Given the description of an element on the screen output the (x, y) to click on. 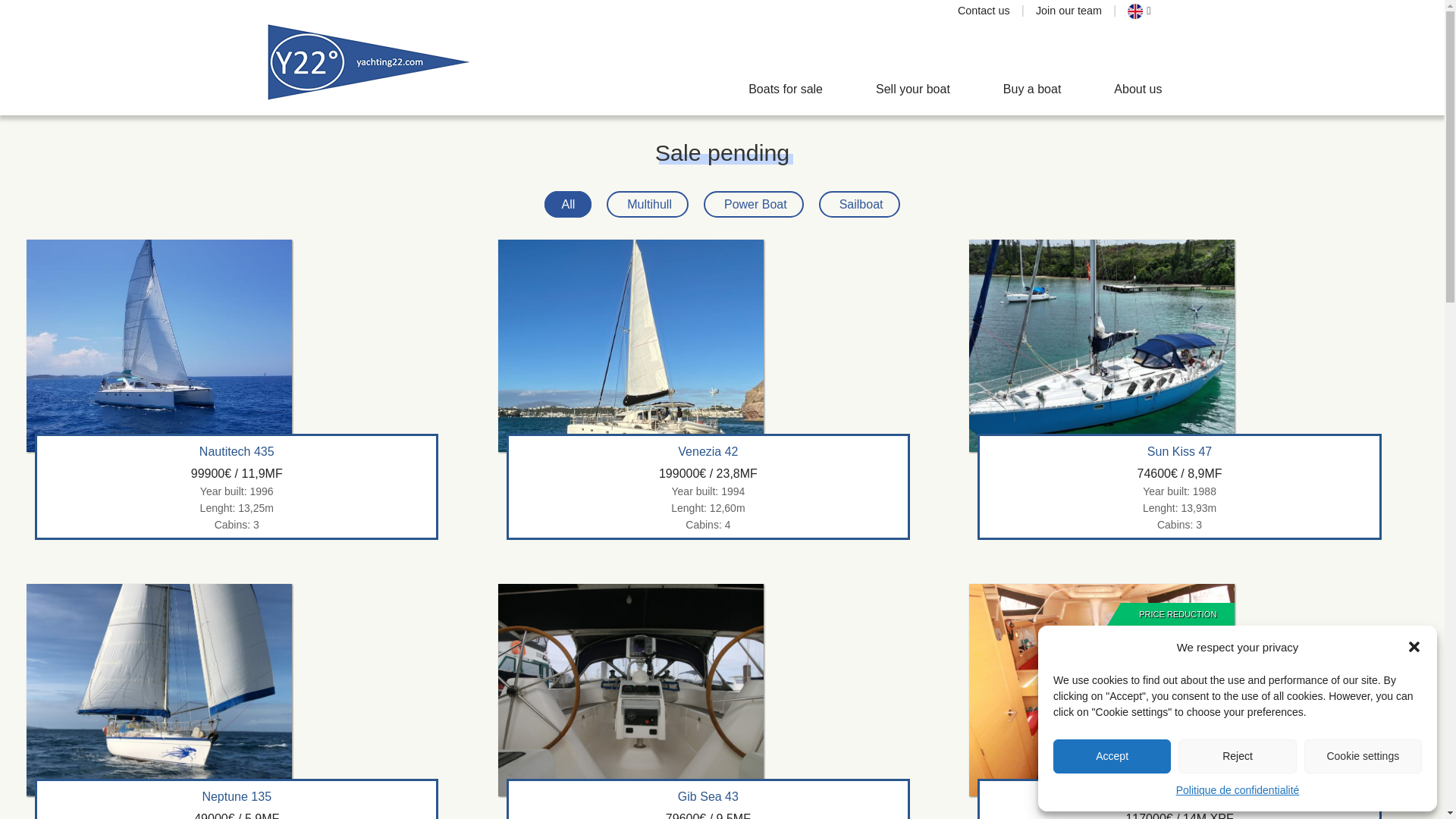
Reject (1236, 756)
Boats for sale (785, 89)
Contact us (984, 11)
Power Boat (753, 203)
Cookie settings (1363, 756)
All (567, 203)
Sailboat (858, 203)
Sell your boat (912, 89)
Nautitech 435 (237, 451)
Accept (1111, 756)
